Given the description of an element on the screen output the (x, y) to click on. 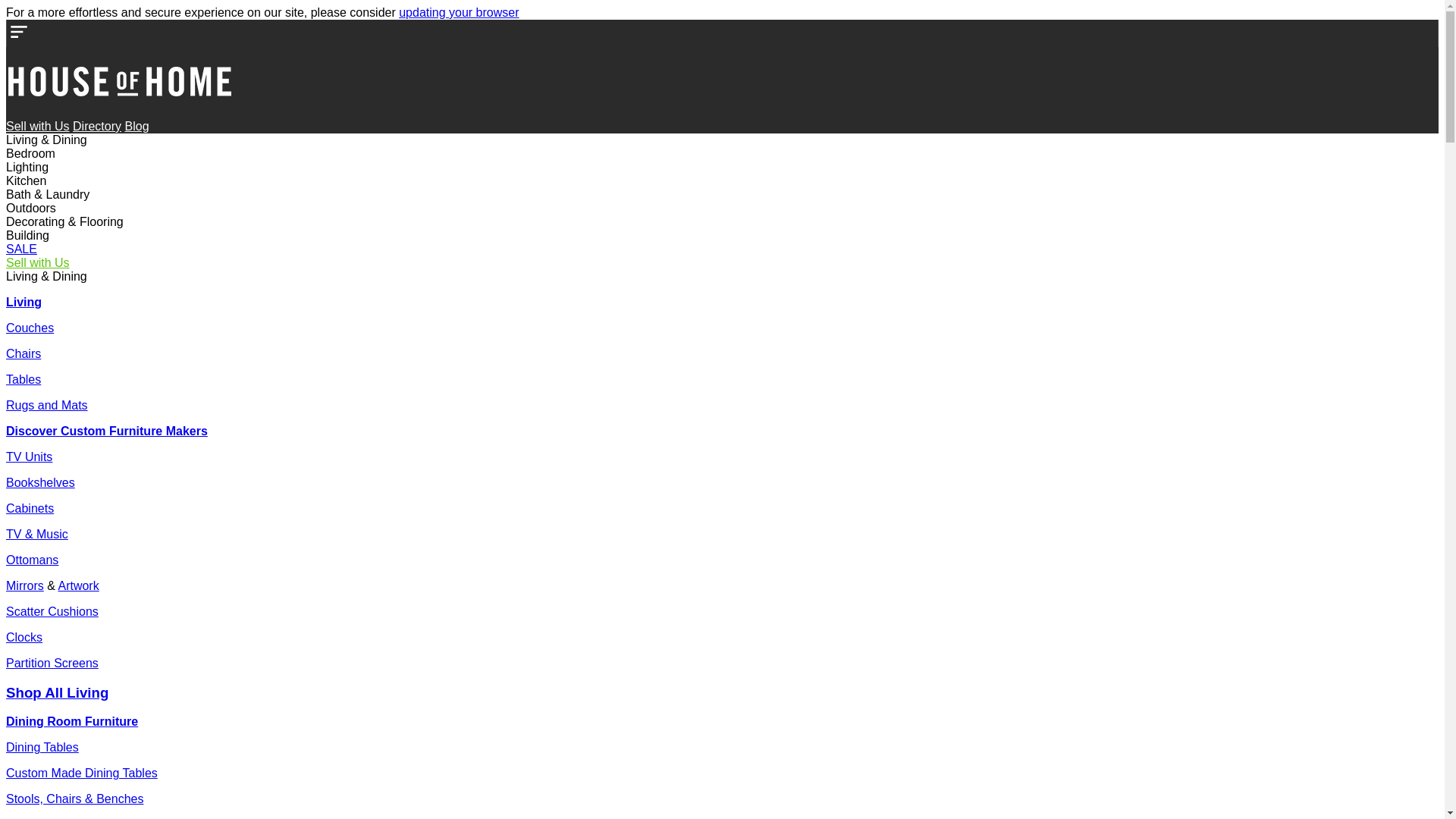
Blog Element type: text (136, 125)
House of Home Home Page Element type: hover (119, 112)
Scatter Cushions Element type: text (52, 611)
Artwork Element type: text (77, 585)
Cabinets Element type: text (29, 508)
Partition Screens Element type: text (52, 662)
Rugs and Mats Element type: text (46, 404)
TV Units Element type: text (29, 456)
Sell with Us Element type: text (37, 125)
Clocks Element type: text (24, 636)
Tables Element type: text (23, 379)
Chairs Element type: text (23, 353)
Living Element type: text (23, 301)
Sell with Us Element type: text (37, 262)
Custom Made Dining Tables Element type: text (81, 772)
Stools, Chairs & Benches Element type: text (74, 798)
Dining Tables Element type: text (42, 746)
SALE Element type: text (21, 248)
Bookshelves Element type: text (40, 482)
Shop All Living Element type: text (57, 692)
updating your browser Element type: text (458, 12)
Ottomans Element type: text (32, 559)
Couches Element type: text (29, 327)
Directory Element type: text (96, 125)
Mirrors Element type: text (24, 585)
Dining Room Furniture Element type: text (72, 721)
TV & Music Element type: text (37, 533)
Discover Custom Furniture Makers Element type: text (106, 430)
